Given the description of an element on the screen output the (x, y) to click on. 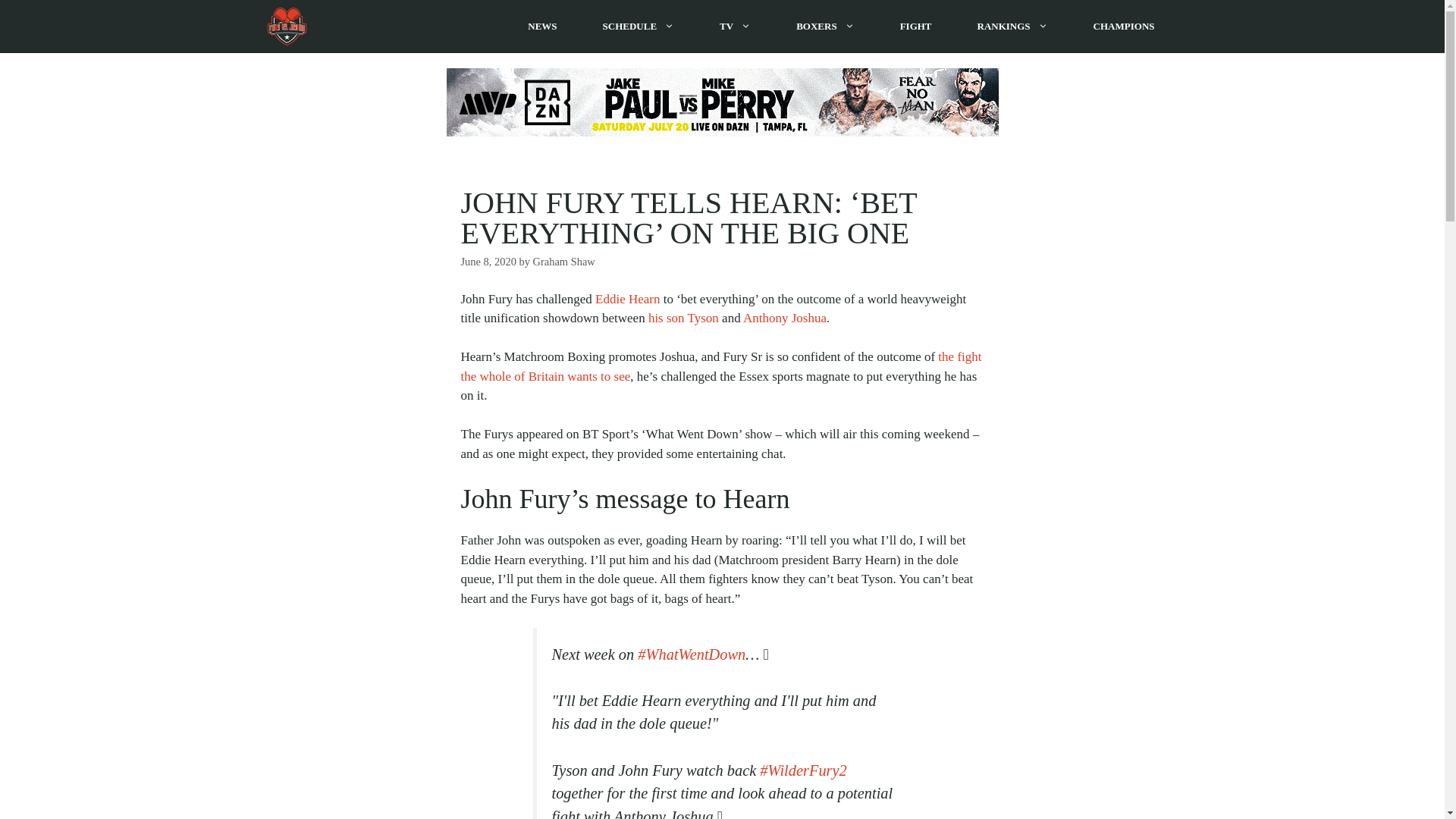
SCHEDULE (638, 26)
FIGHT (916, 26)
Graham Shaw (563, 261)
View all posts by Graham Shaw (563, 261)
the fight the whole of Britain wants to see (721, 366)
Anthony Joshua (784, 318)
his son Tyson (683, 318)
NEWS (542, 26)
TV (735, 26)
BOXERS (824, 26)
RANKINGS (1012, 26)
CHAMPIONS (1123, 26)
Eddie Hearn (627, 298)
